Given the description of an element on the screen output the (x, y) to click on. 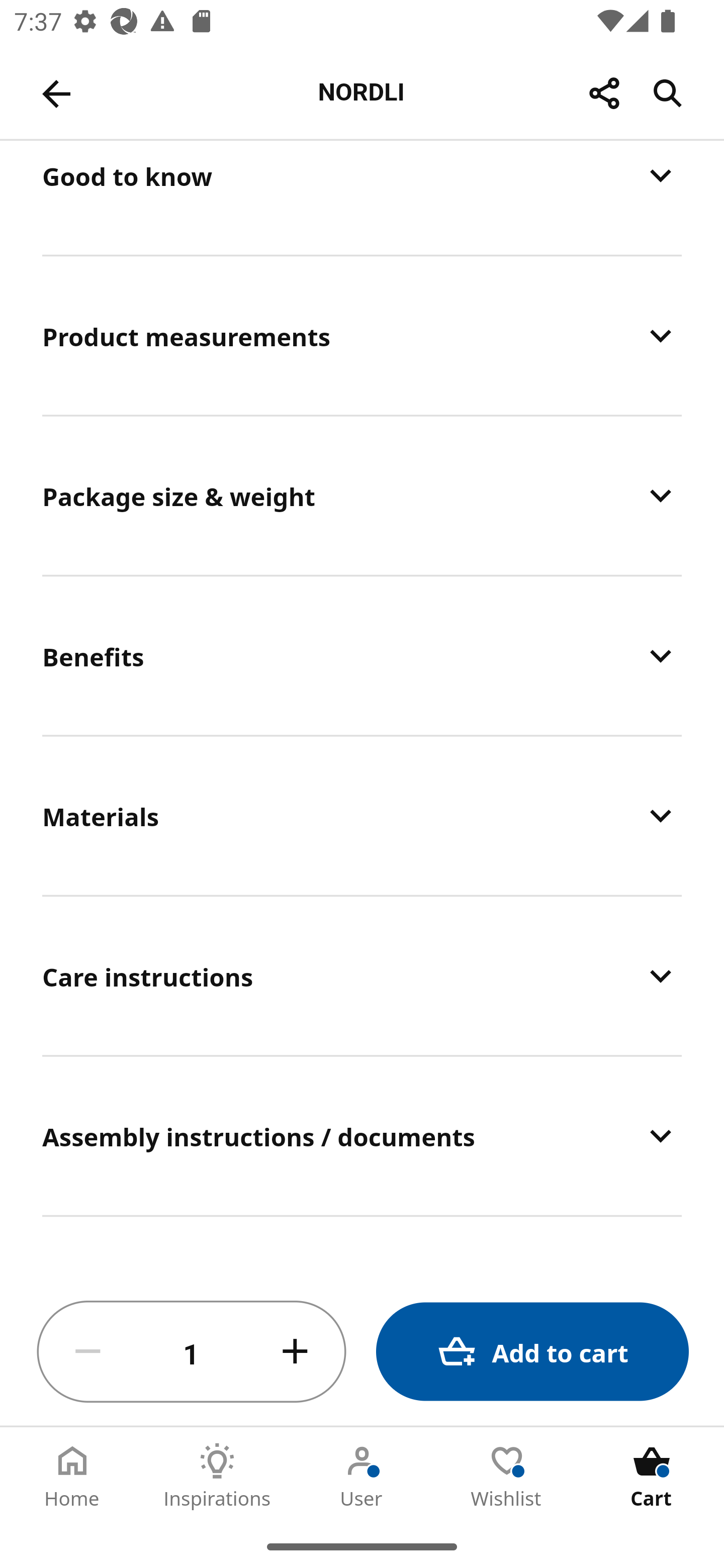
Good to know (361, 196)
Product measurements (361, 335)
Package size & weight (361, 495)
Benefits (361, 655)
Materials (361, 815)
Care instructions (361, 975)
Assembly instructions / documents (361, 1135)
Add to cart (531, 1352)
1 (191, 1352)
Home
Tab 1 of 5 (72, 1476)
Inspirations
Tab 2 of 5 (216, 1476)
User
Tab 3 of 5 (361, 1476)
Wishlist
Tab 4 of 5 (506, 1476)
Cart
Tab 5 of 5 (651, 1476)
